Given the description of an element on the screen output the (x, y) to click on. 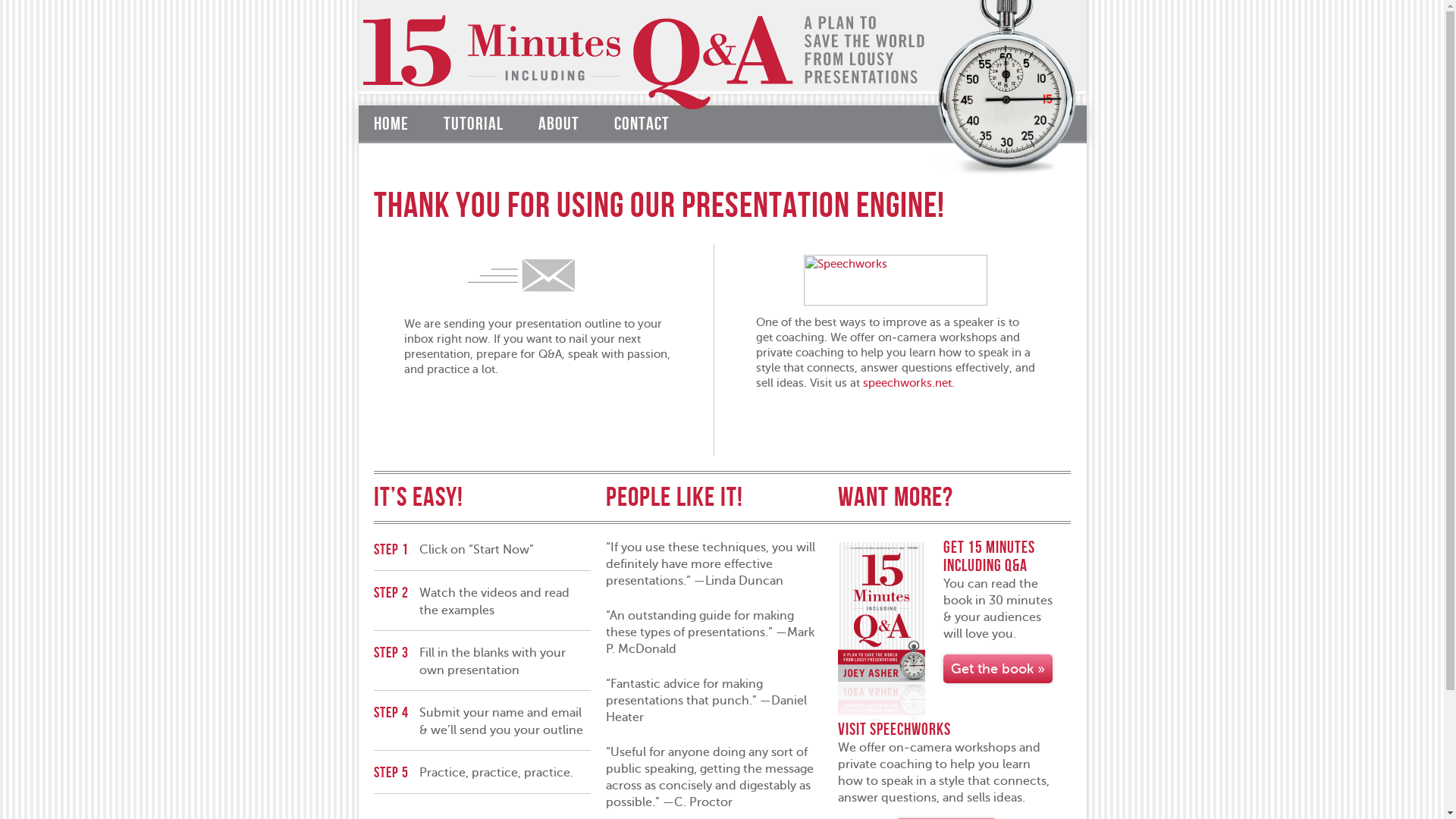
ABOUT Element type: text (558, 124)
HOME Element type: text (390, 124)
speechworks.net Element type: text (906, 382)
TUTORIAL Element type: text (472, 124)
CONTACT Element type: text (641, 124)
